Given the description of an element on the screen output the (x, y) to click on. 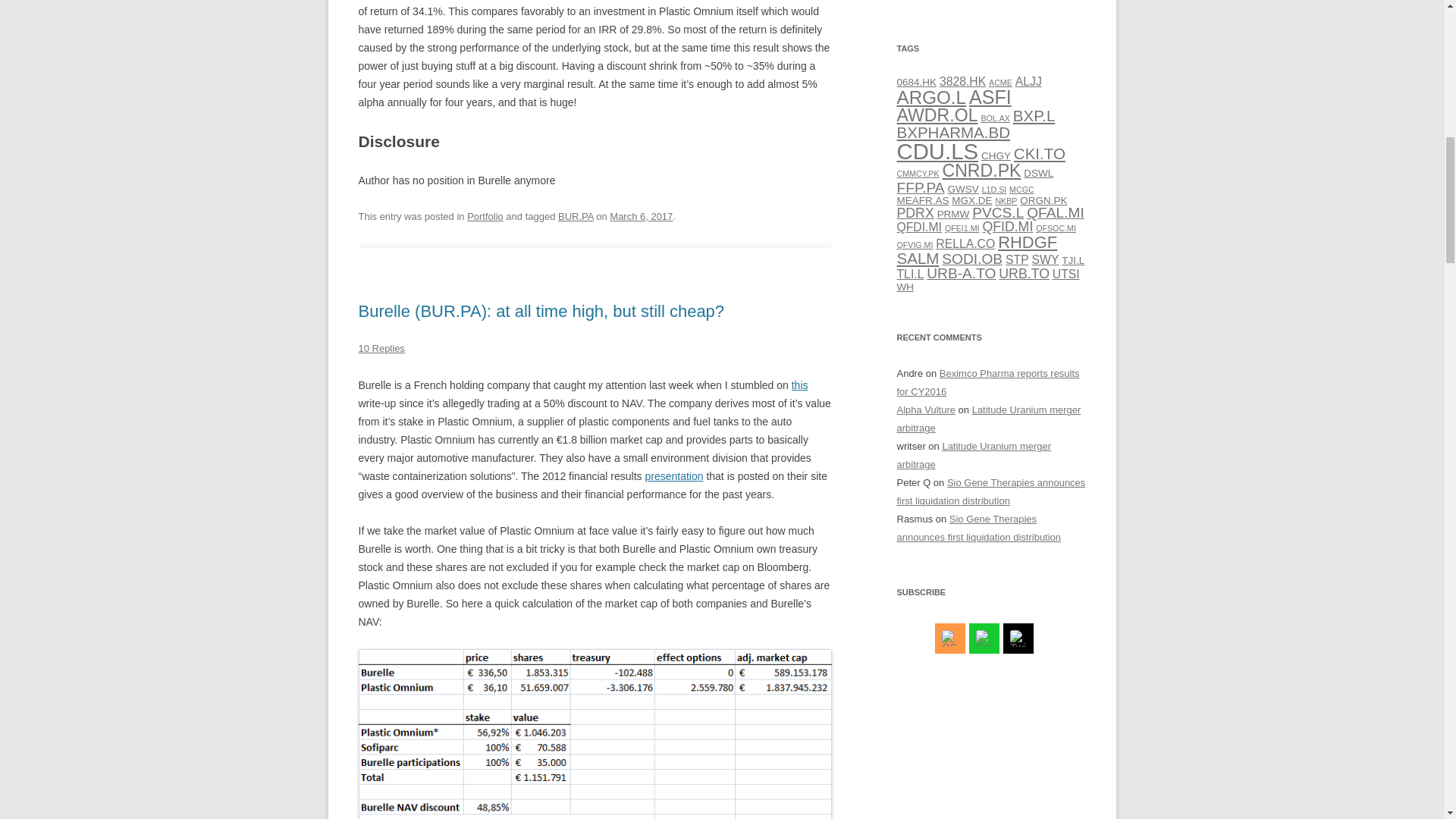
11:20 am (641, 215)
Portfolio (485, 215)
10 Replies (381, 348)
March 6, 2017 (641, 215)
presentation (674, 476)
BUR.PA (575, 215)
this (800, 385)
